Given the description of an element on the screen output the (x, y) to click on. 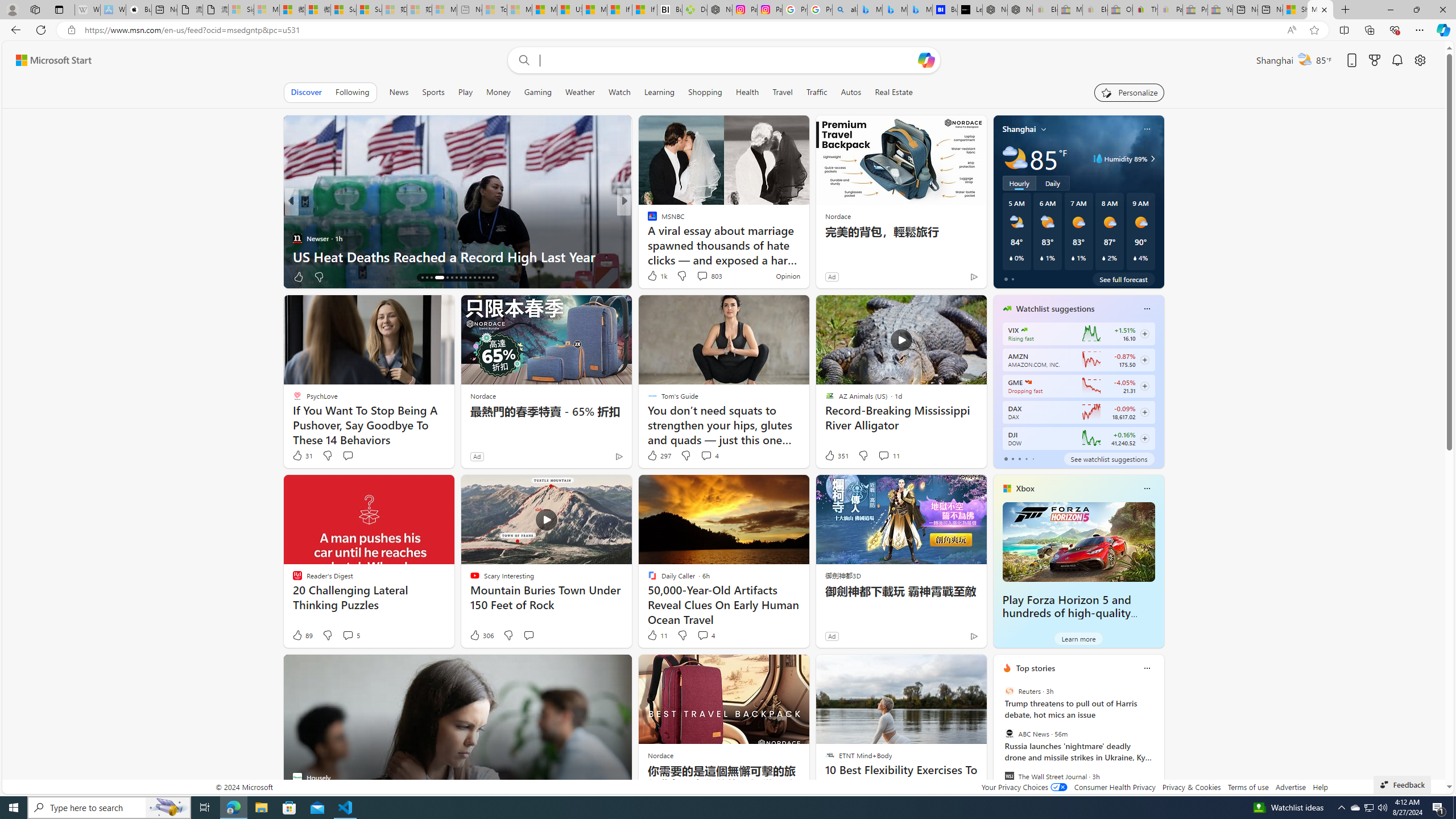
View comments 41 Comment (704, 276)
See watchlist suggestions (1108, 459)
View comments 25 Comment (6, 276)
View comments 4 Comment (703, 635)
297 Like (658, 455)
View comments 102 Comment (705, 276)
View comments 65 Comment (703, 276)
The Enemy of Average (647, 238)
Why Billions Of Crabs Went Missing From This Sea (807, 256)
